Given the description of an element on the screen output the (x, y) to click on. 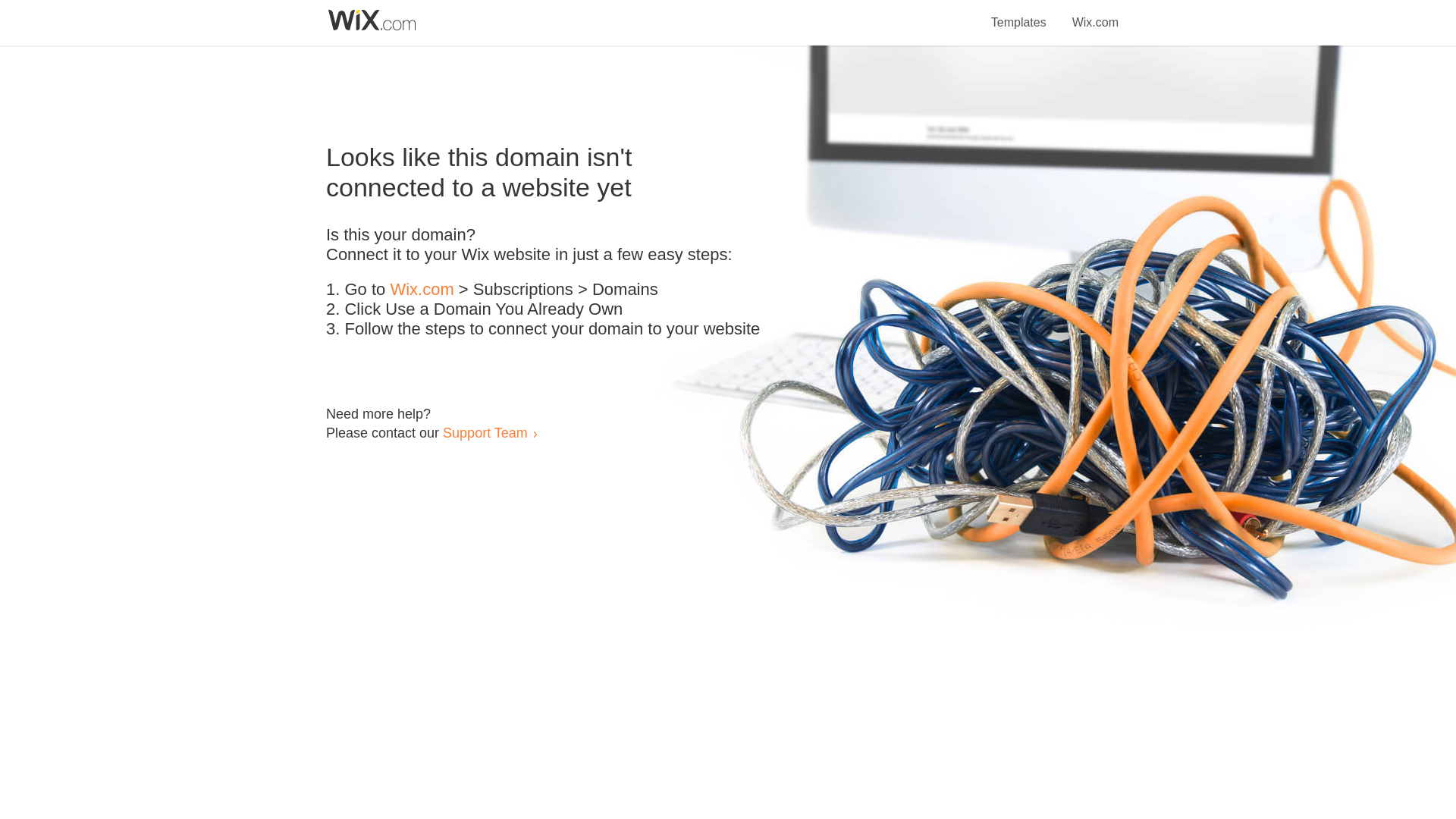
Wix.com (421, 289)
Wix.com (1095, 14)
Templates (1018, 14)
Support Team (484, 432)
